Given the description of an element on the screen output the (x, y) to click on. 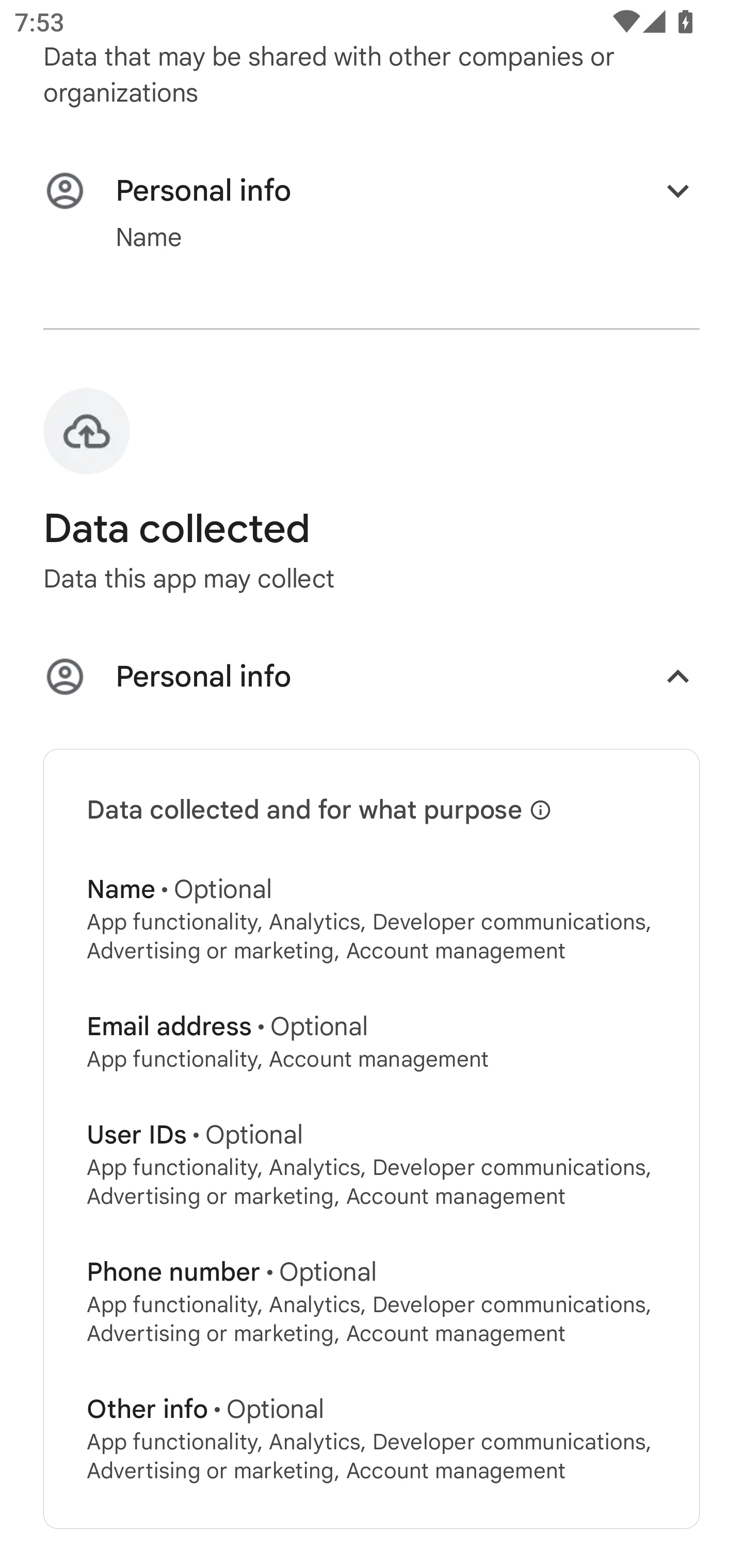
heading Personal info Name Expand button (371, 212)
heading Personal info Collapse button (371, 680)
